Given the description of an element on the screen output the (x, y) to click on. 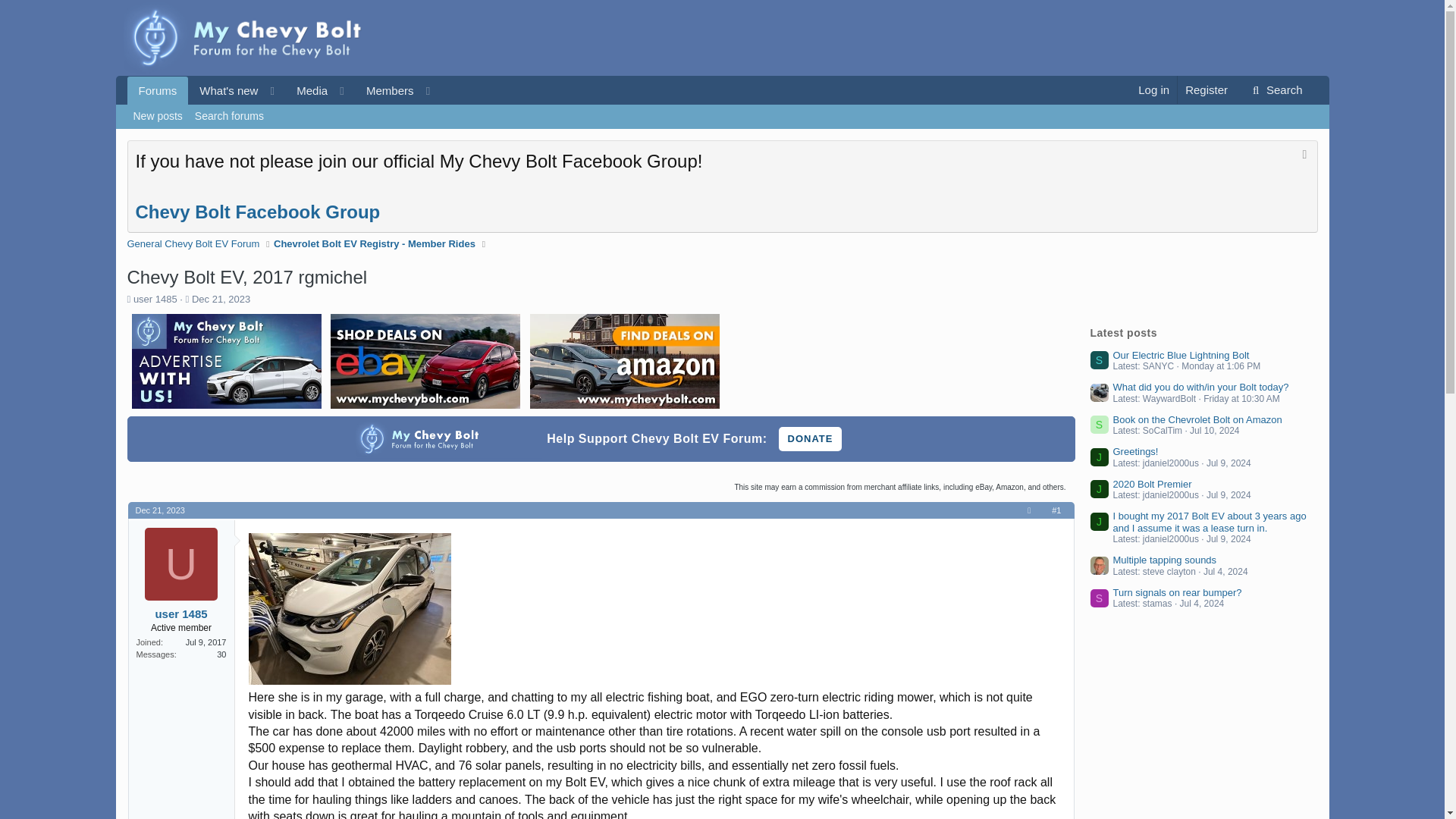
Register (1205, 90)
What's new (223, 90)
Chevy Bolt Facebook Group (257, 211)
Dec 21, 2023 at 3:27 PM (159, 510)
Search (1275, 90)
Start date (722, 133)
Members (221, 298)
Thread starter (288, 90)
Log in (384, 90)
General Chevy Bolt EV Forum (1153, 90)
